Given the description of an element on the screen output the (x, y) to click on. 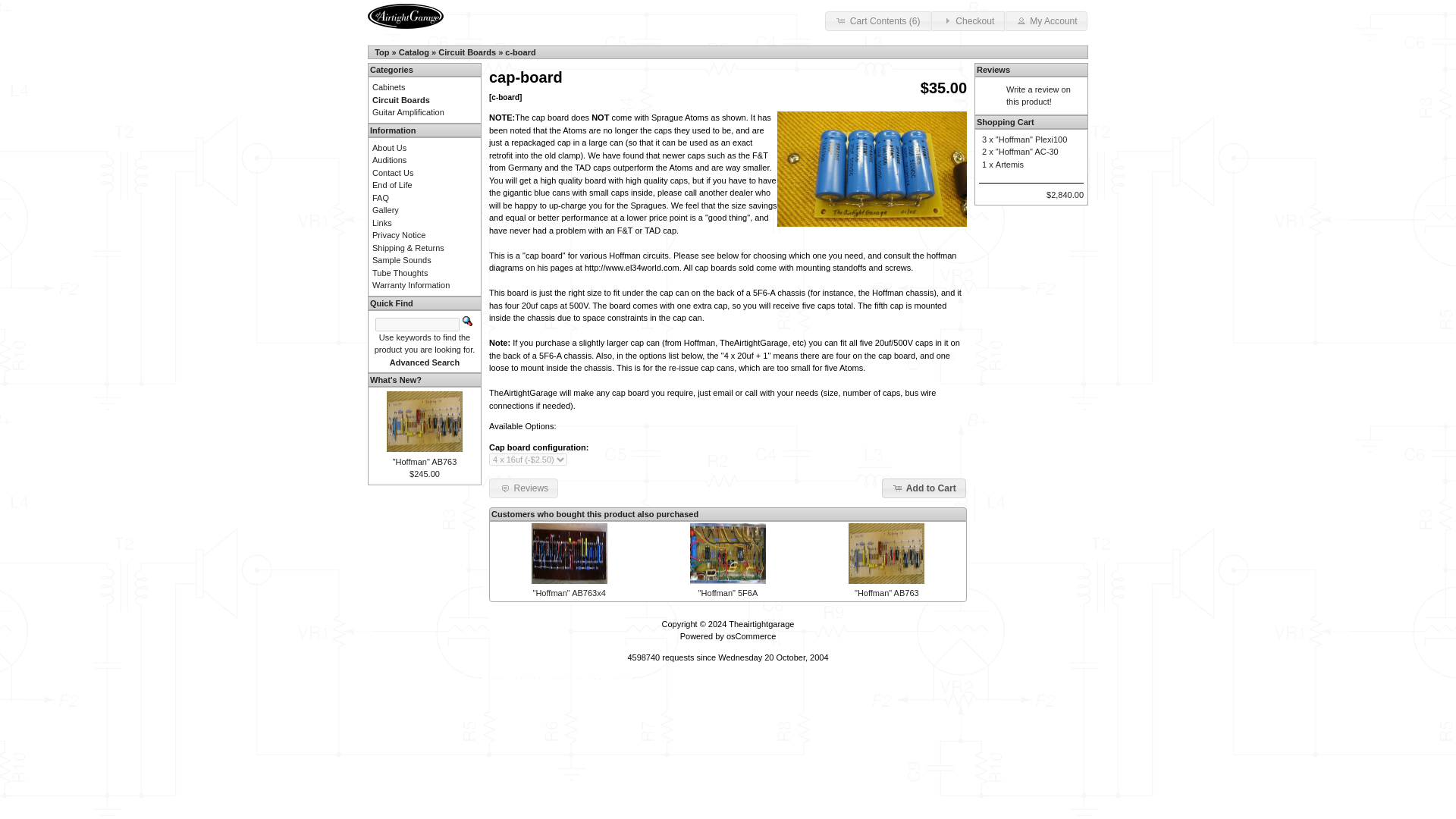
Add to Cart (924, 487)
"Hoffman" 5F6A (728, 592)
 Quick Find  (467, 319)
Reviews (993, 69)
Tube Thoughts (400, 272)
Circuit Boards (467, 51)
"Hoffman" 5F6A (727, 553)
FAQ (380, 196)
"Hoffman" AB763 (886, 592)
Advanced Search (425, 361)
About Us (389, 146)
"Hoffman" AB763x4 (568, 592)
Checkout (967, 21)
End of Life (392, 184)
Links (381, 222)
